Given the description of an element on the screen output the (x, y) to click on. 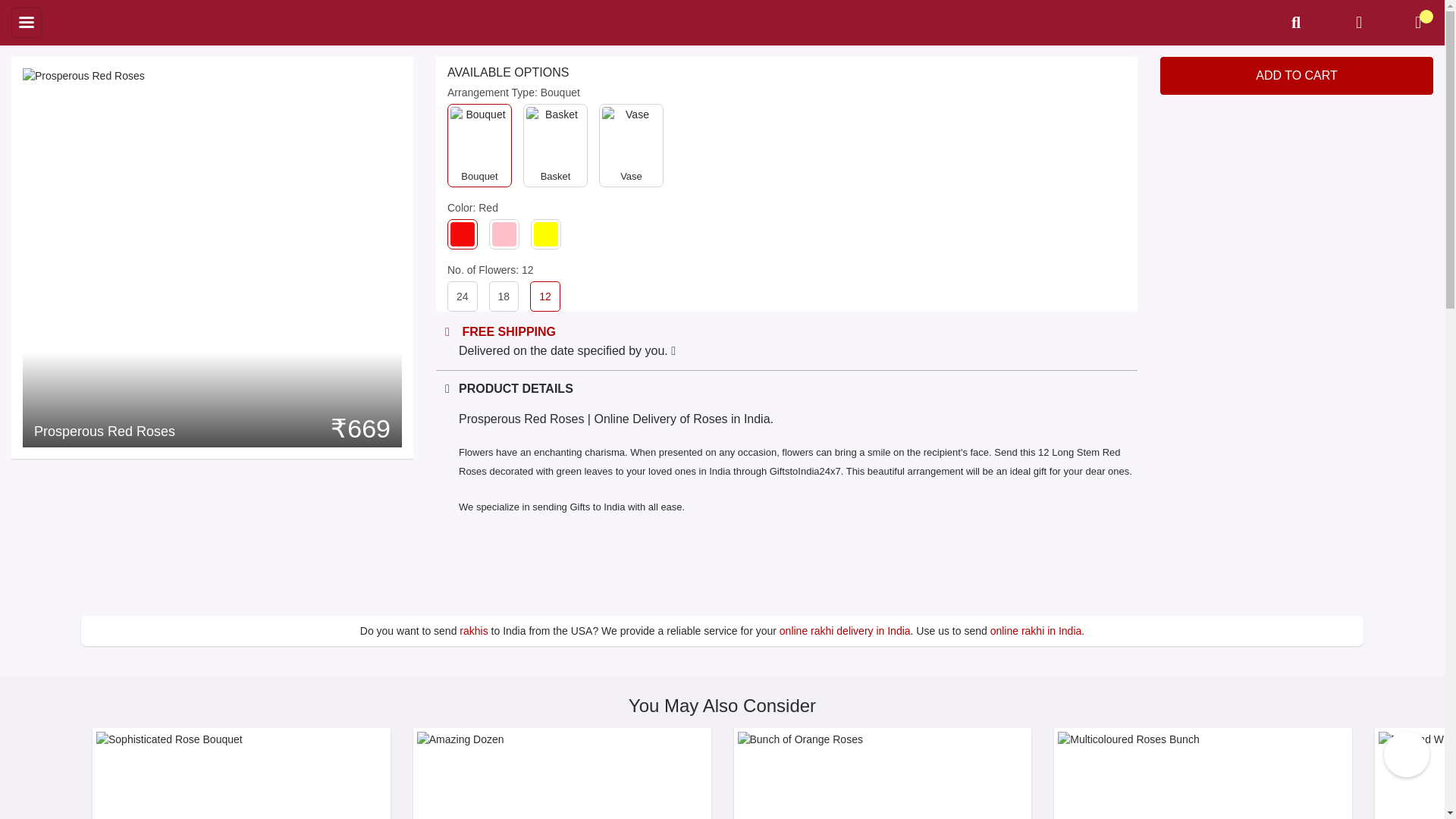
menu (26, 22)
